Given the description of an element on the screen output the (x, y) to click on. 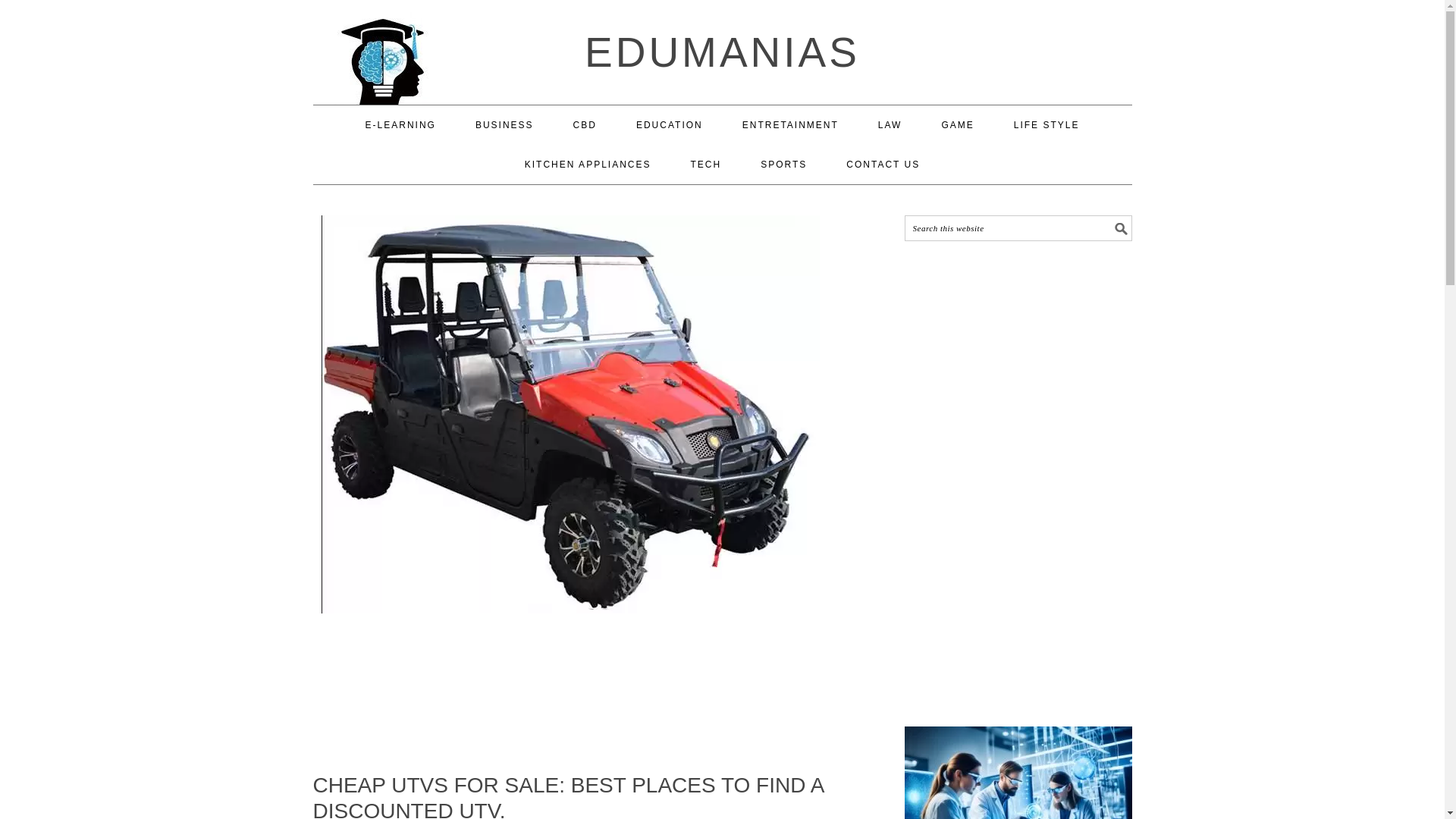
LIFE STYLE (1046, 124)
BUSINESS (505, 124)
E-LEARNING (400, 124)
LAW (890, 124)
KITCHEN APPLIANCES (587, 164)
EDUCATION (669, 124)
SPORTS (783, 164)
CONTACT US (883, 164)
ENTRETAINMENT (790, 124)
GAME (956, 124)
Advertisement (570, 694)
